Given the description of an element on the screen output the (x, y) to click on. 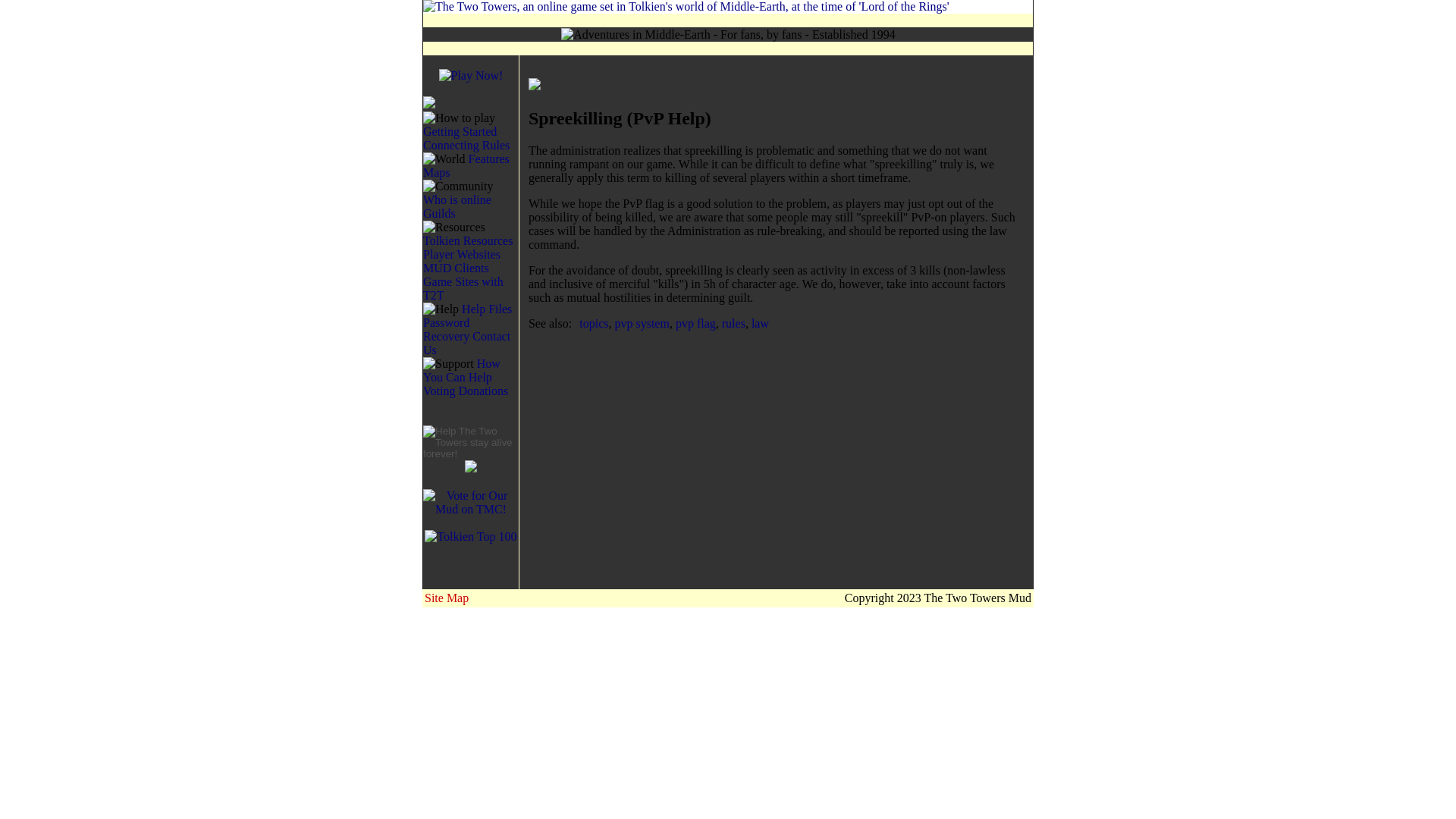
law (759, 323)
Rules (495, 144)
Features (488, 158)
Help Files (486, 308)
Donations (483, 390)
Guilds (439, 213)
Connecting (451, 144)
Password Recovery (445, 329)
rules (733, 323)
topics (593, 323)
How You Can Help (461, 370)
Getting Started (459, 131)
Who is online (457, 199)
pvp flag (695, 323)
Site Map (446, 597)
